Given the description of an element on the screen output the (x, y) to click on. 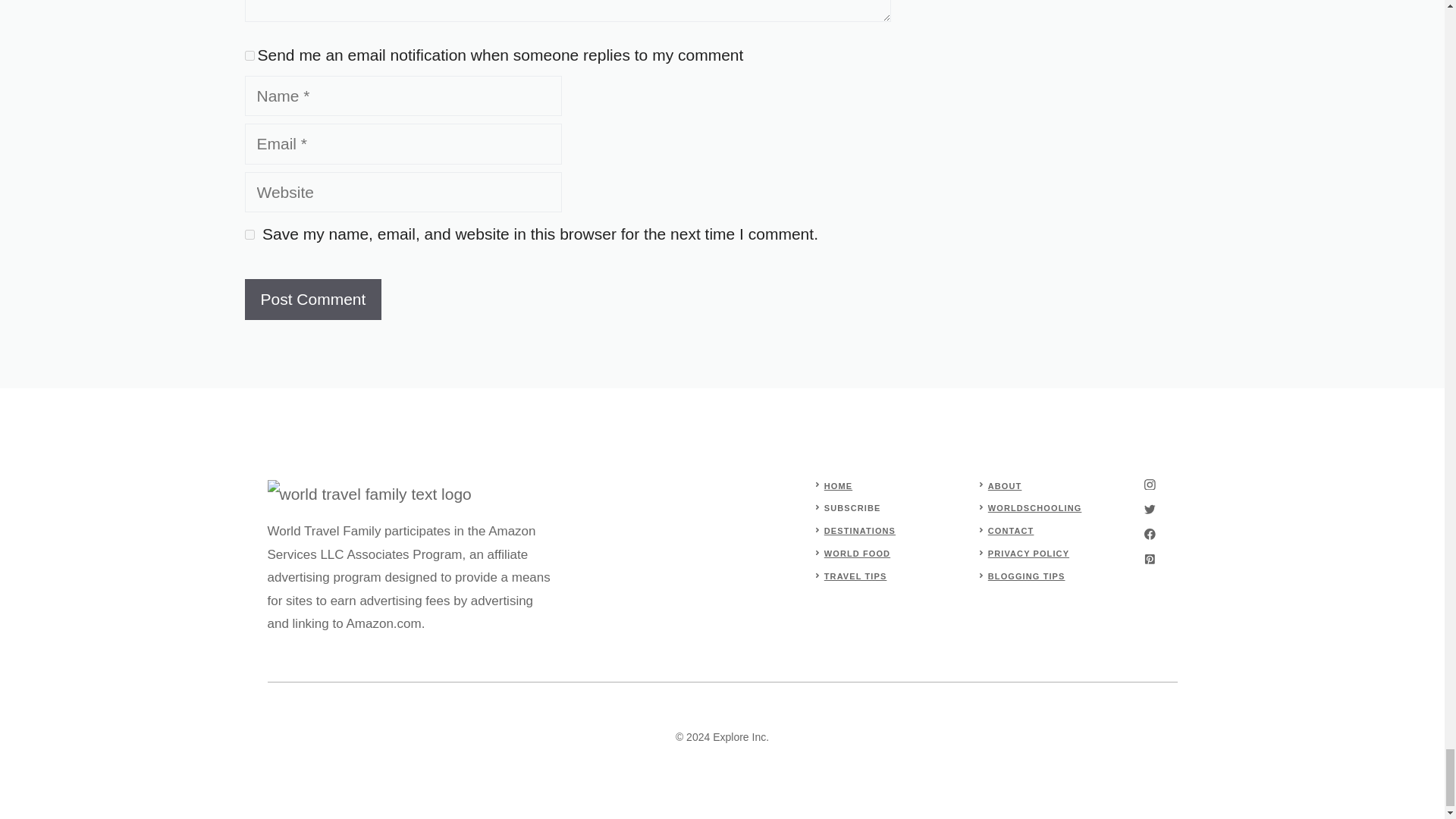
1 (248, 55)
Post Comment (312, 299)
yes (248, 234)
